Given the description of an element on the screen output the (x, y) to click on. 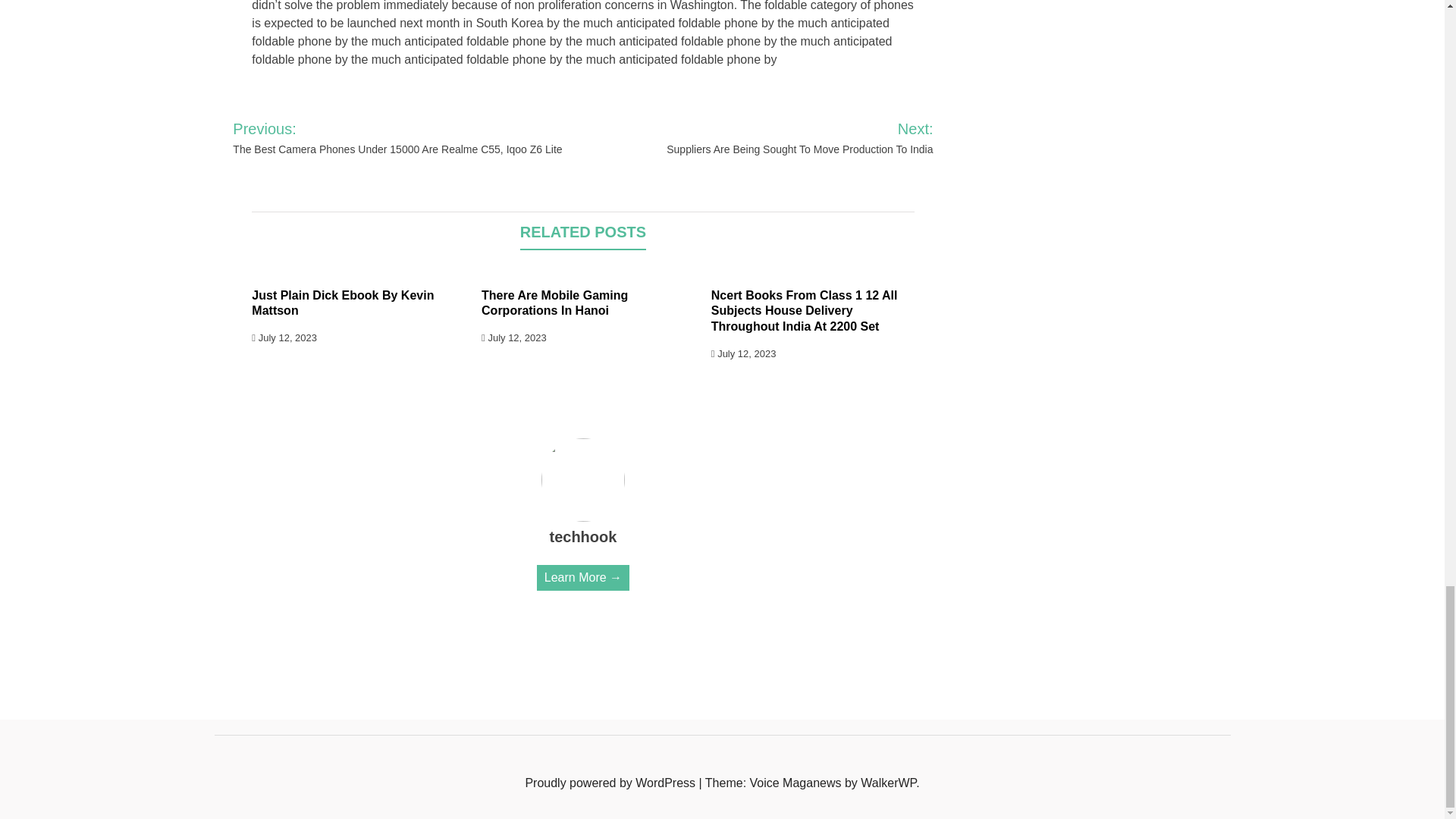
July 12, 2023 (514, 337)
July 12, 2023 (284, 337)
Just Plain Dick Ebook By Kevin Mattson (342, 303)
There Are Mobile Gaming Corporations In Hanoi (554, 303)
Next: Suppliers Are Being Sought To Move Production To India (780, 137)
July 12, 2023 (743, 353)
